Given the description of an element on the screen output the (x, y) to click on. 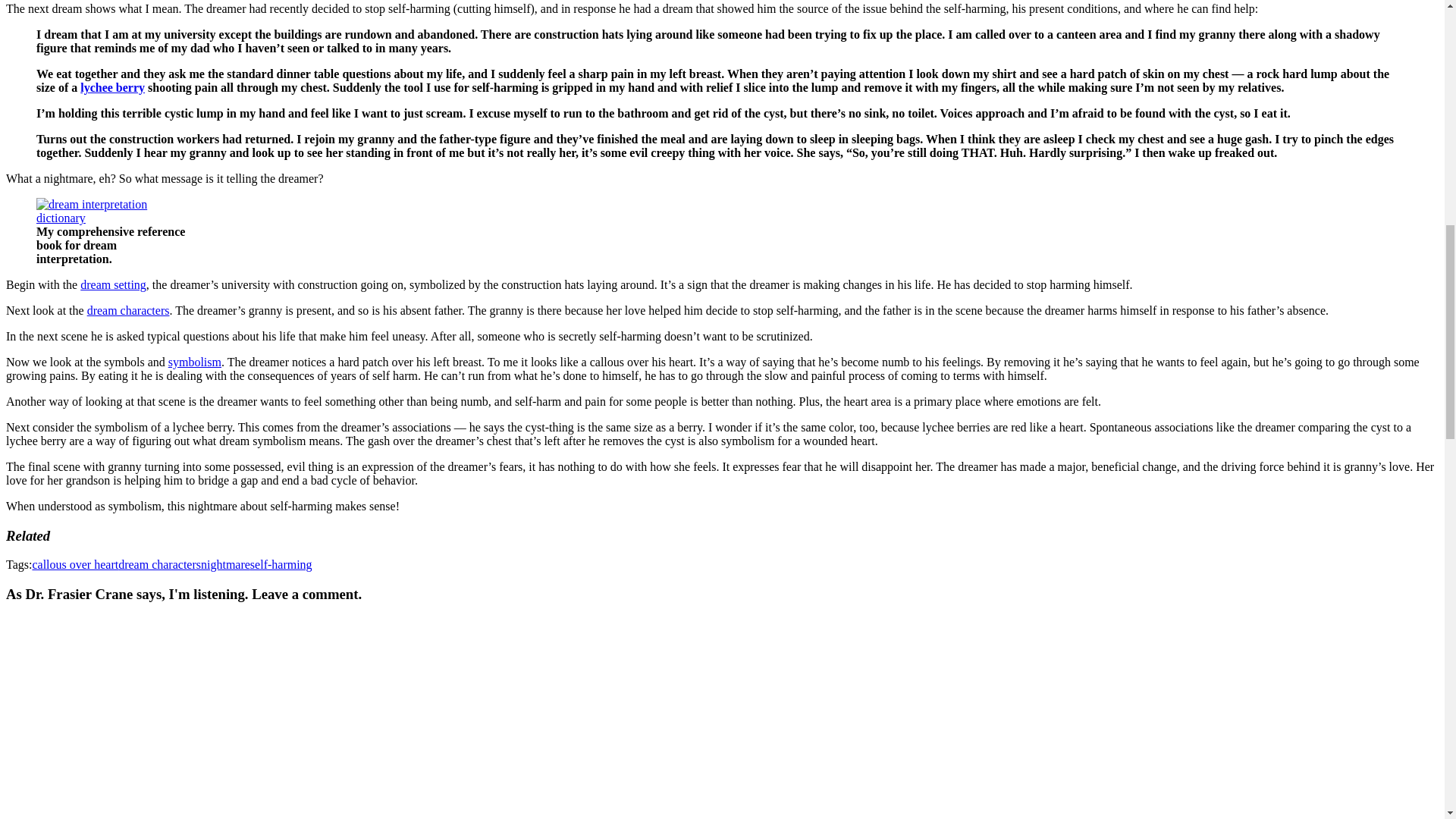
nightmare (225, 563)
self-harming (281, 563)
callous over heart (74, 563)
nightmare (225, 563)
lychee berry (112, 87)
self-harming (281, 563)
callous over heart (74, 563)
dream characters (158, 563)
dream setting (113, 284)
images of lychee berry (112, 87)
